Given the description of an element on the screen output the (x, y) to click on. 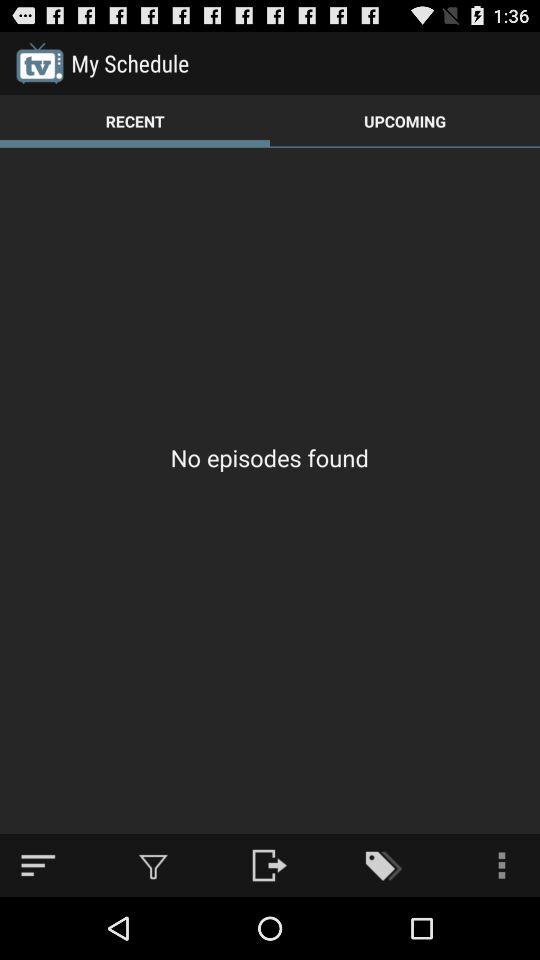
choose the item next to upcoming (135, 120)
